Given the description of an element on the screen output the (x, y) to click on. 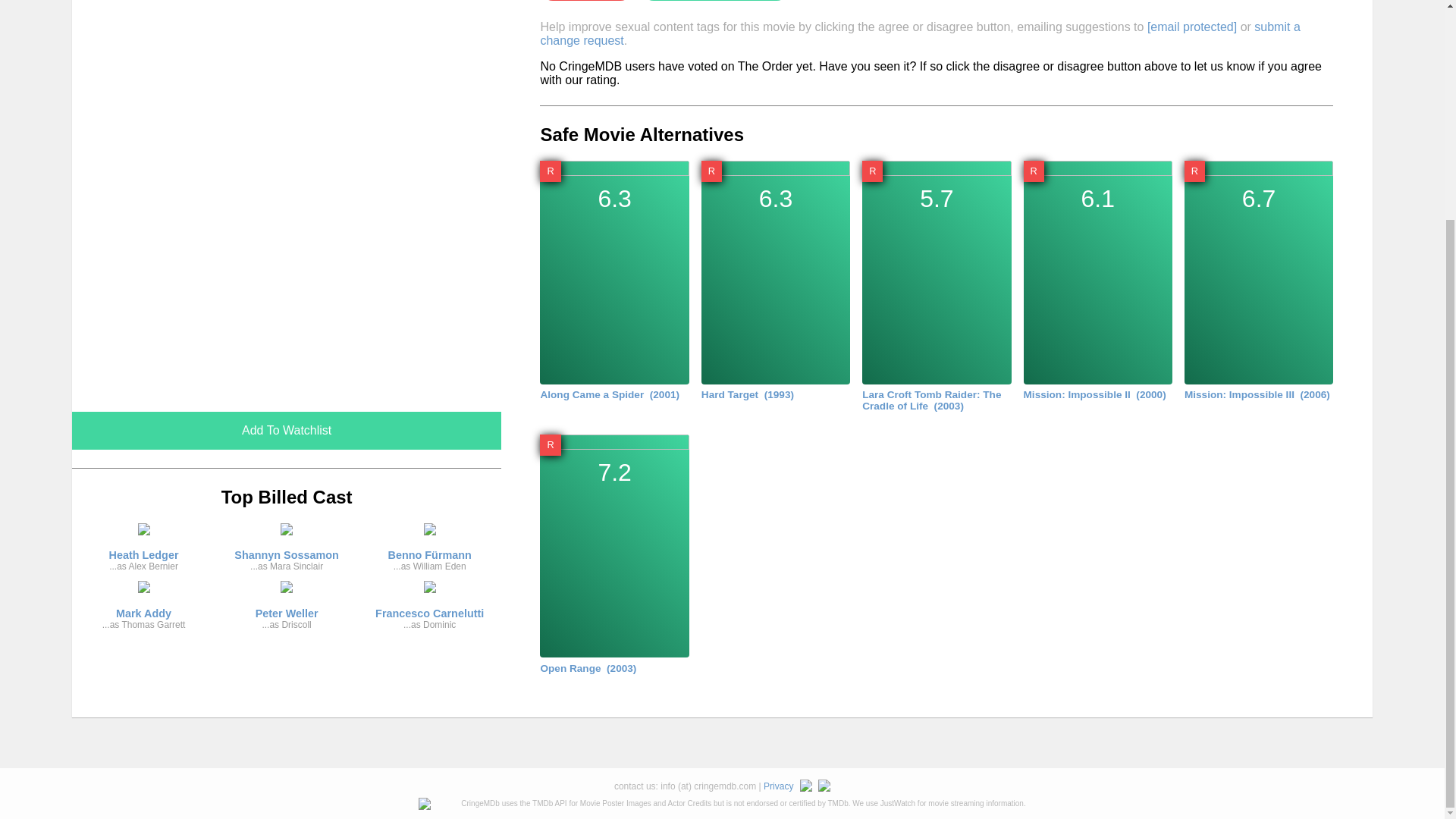
Add To Watchlist (143, 551)
Add Review (285, 430)
submit a change request (286, 609)
